Given the description of an element on the screen output the (x, y) to click on. 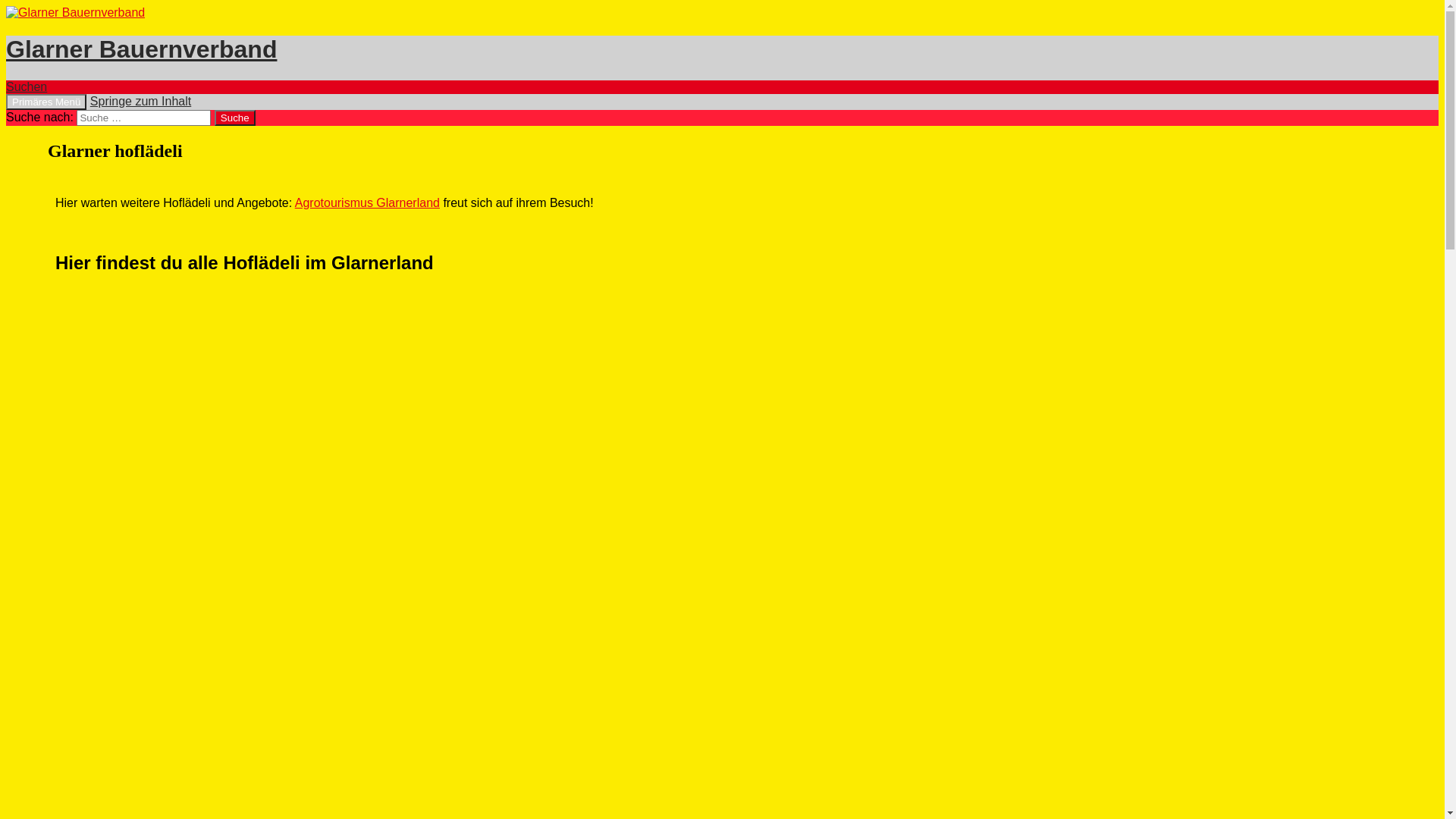
Suche Element type: text (234, 117)
Agrotourismus Glarnerland Element type: text (366, 202)
Springe zum Inhalt Element type: text (140, 100)
Suchen Element type: text (26, 86)
Glarner Bauernverband Element type: text (141, 48)
